Given the description of an element on the screen output the (x, y) to click on. 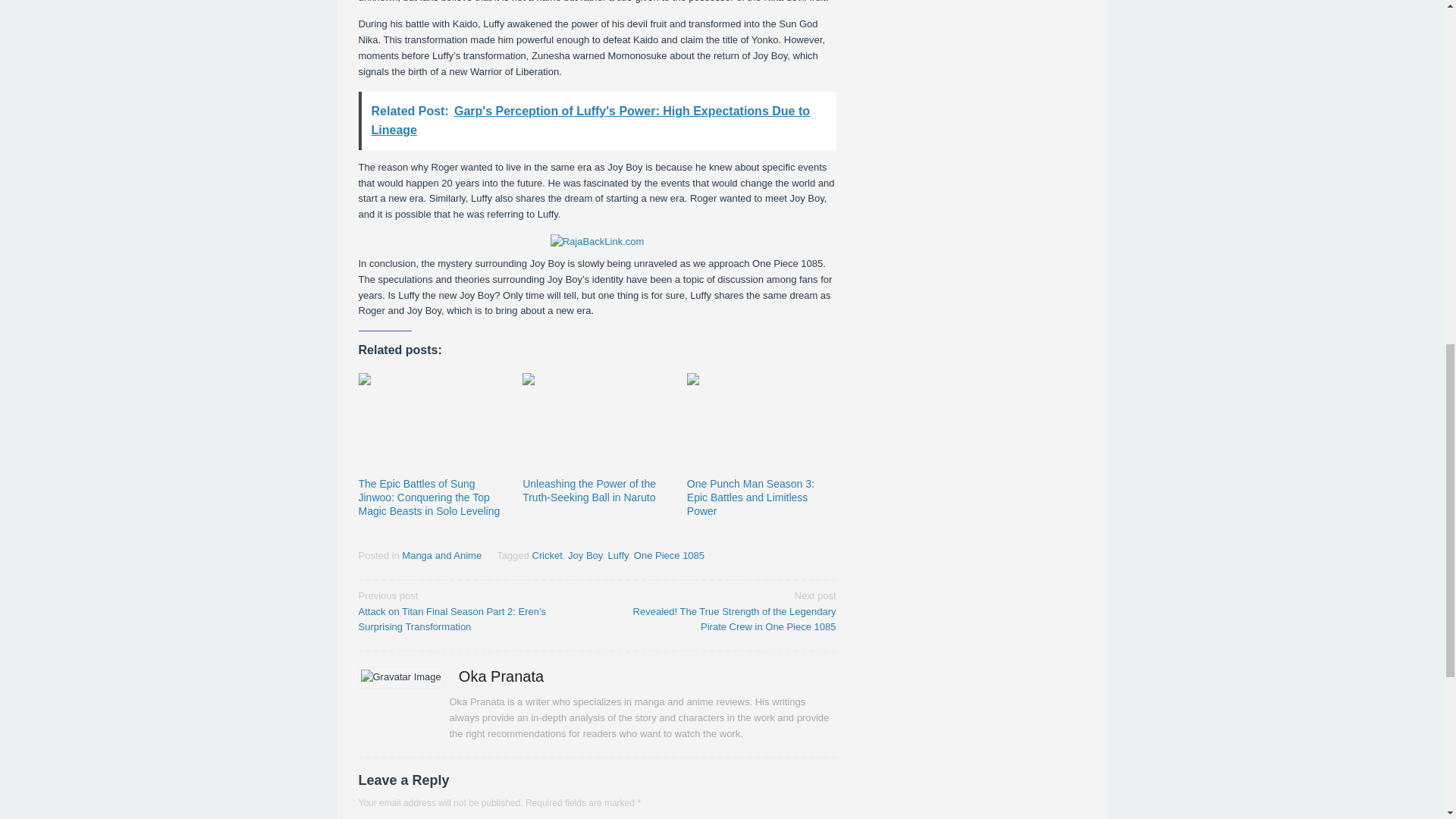
Gravatar (400, 677)
Manga and Anime (441, 555)
Cricket (546, 555)
Luffy (618, 555)
One Punch Man Season 3: Epic Battles and Limitless Power (750, 496)
Unleashing the Power of the Truth-Seeking Ball in Naruto (589, 490)
One Piece 1085 (668, 555)
